Given the description of an element on the screen output the (x, y) to click on. 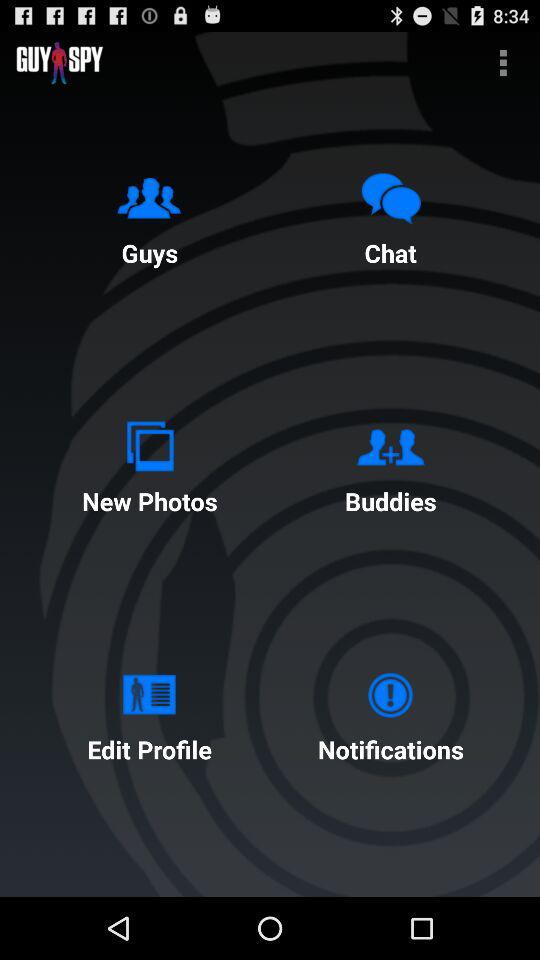
swipe until buddies icon (390, 463)
